Given the description of an element on the screen output the (x, y) to click on. 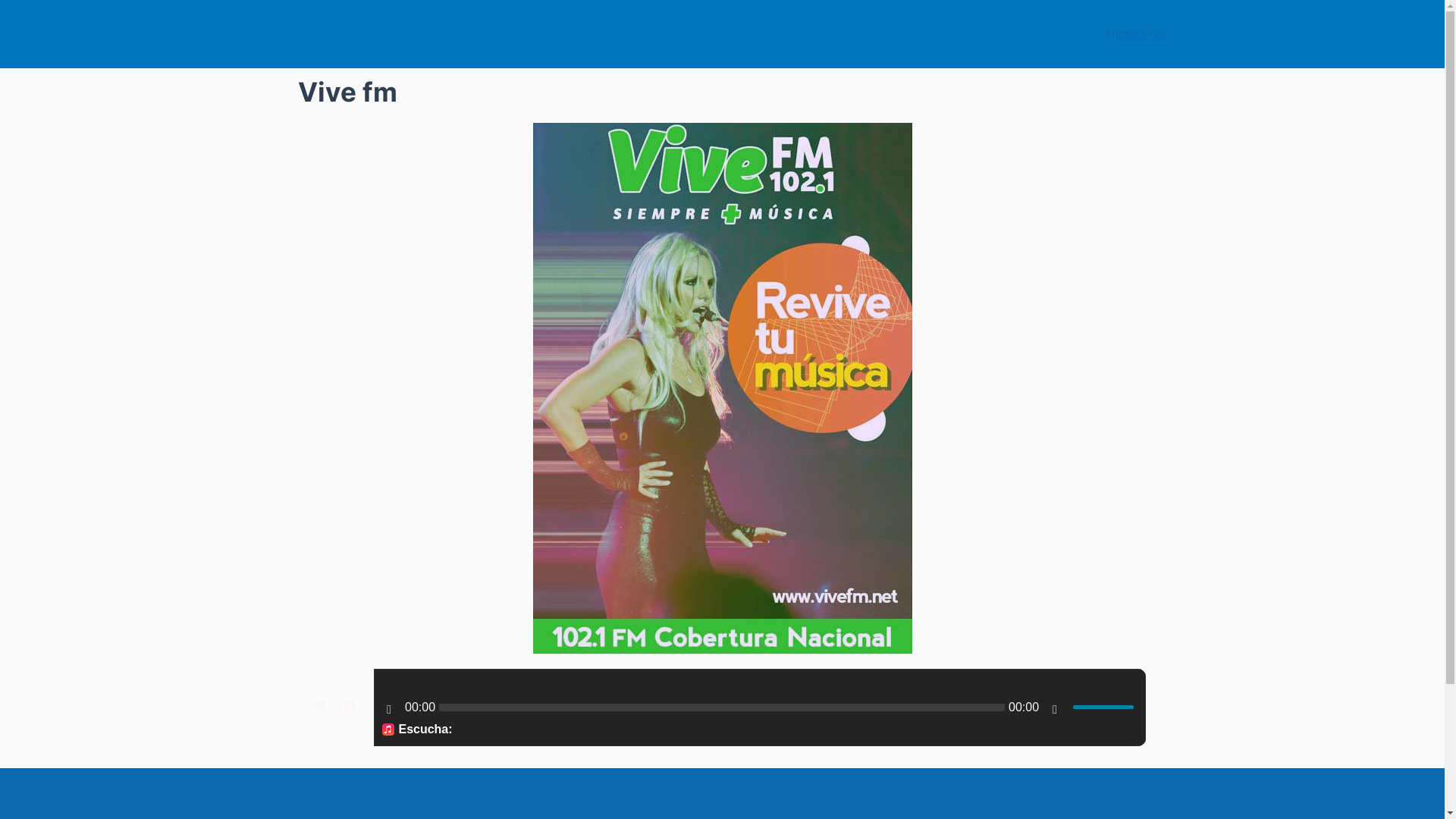
Home Vive Element type: text (1136, 33)
